Given the description of an element on the screen output the (x, y) to click on. 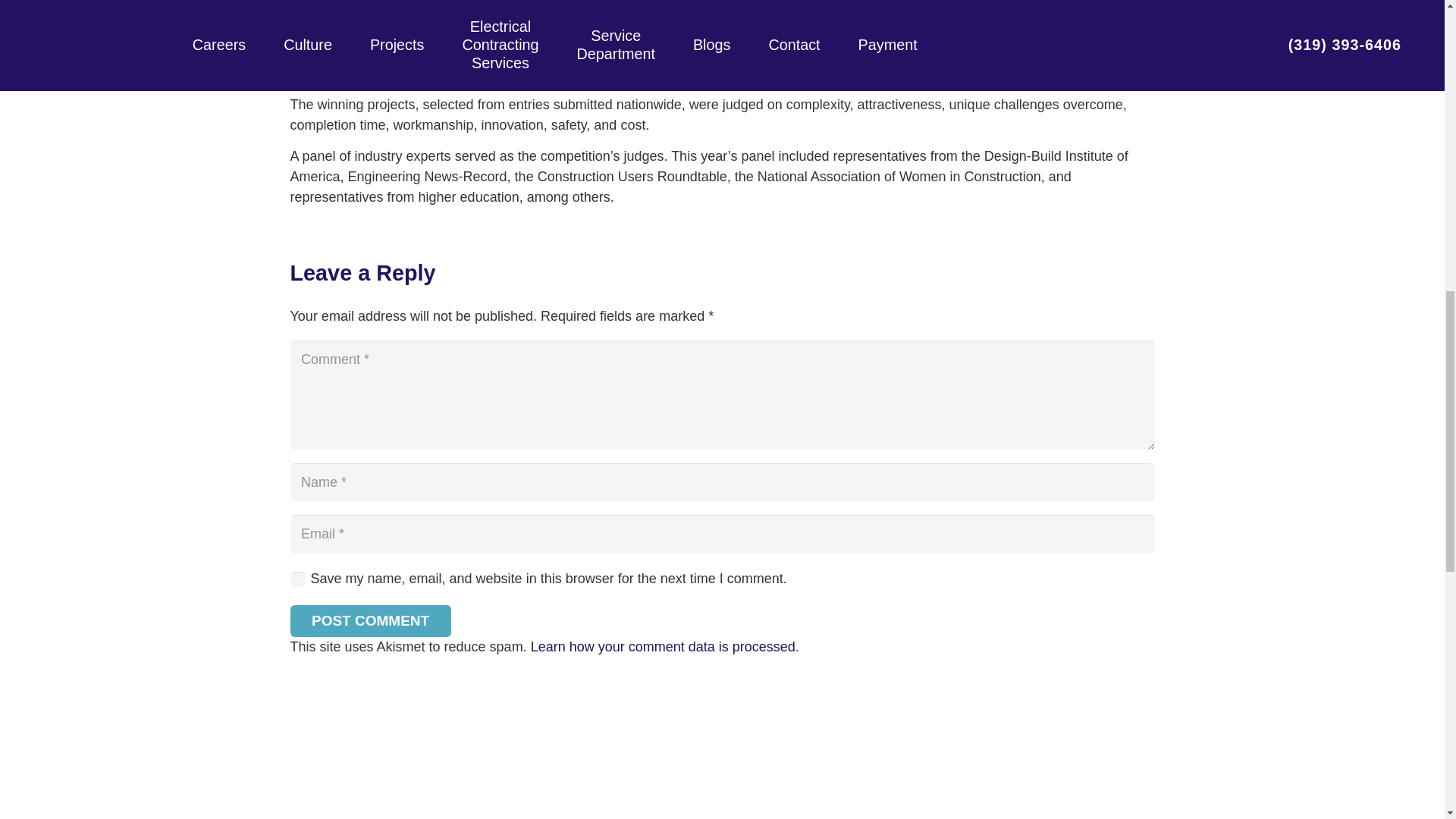
1 (296, 579)
Back to top (1413, 26)
Learn how your comment data is processed (662, 646)
POST COMMENT (369, 621)
